Given the description of an element on the screen output the (x, y) to click on. 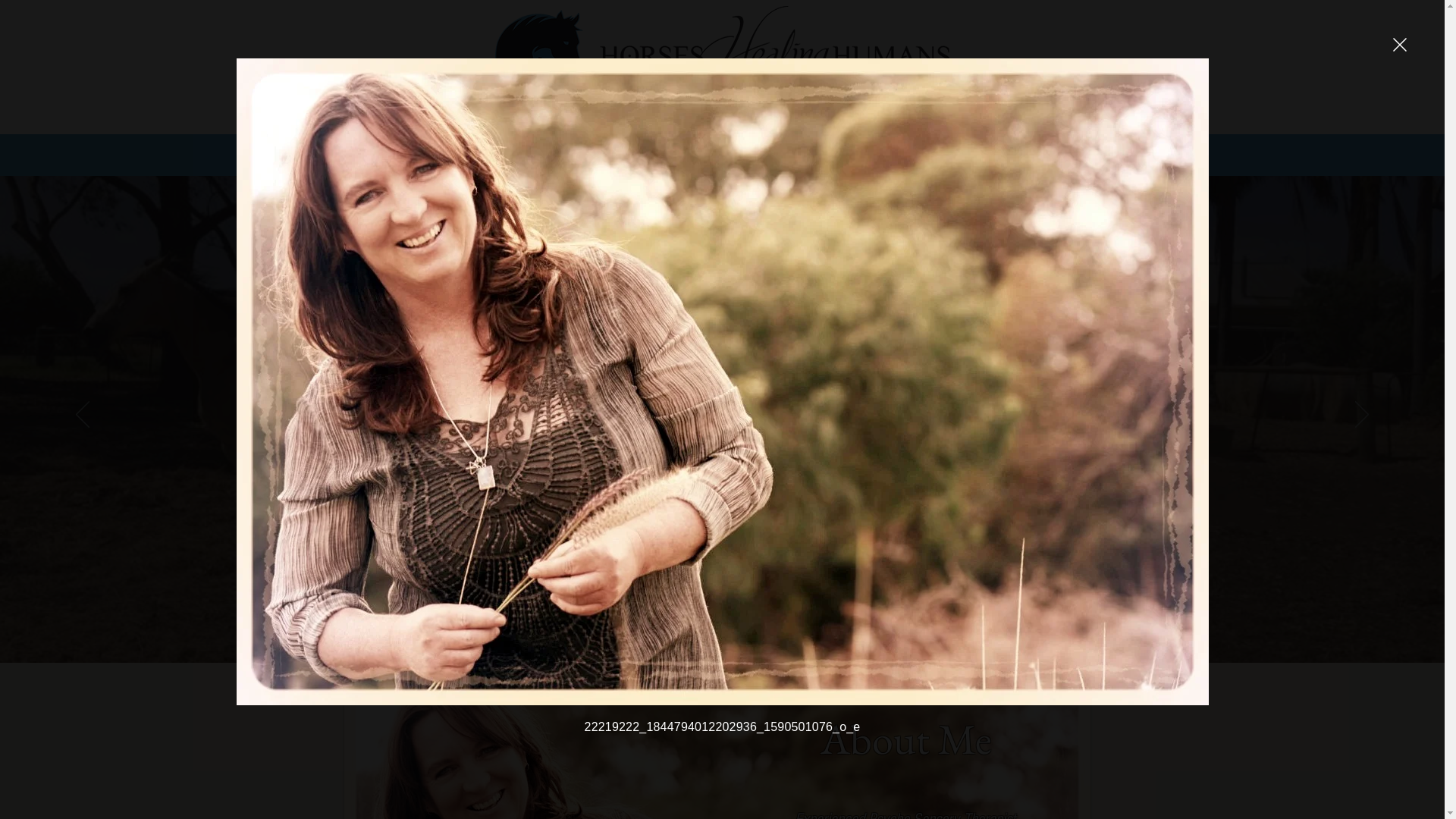
Counselling Element type: text (503, 152)
Home Element type: text (374, 152)
Bodywork Element type: text (578, 152)
info@horseshealinghumans.com.au Element type: text (963, 152)
Animal Bodywork Element type: text (671, 152)
Self Development Element type: text (782, 152)
About Us Element type: text (431, 152)
FAQ Element type: text (856, 152)
